Given the description of an element on the screen output the (x, y) to click on. 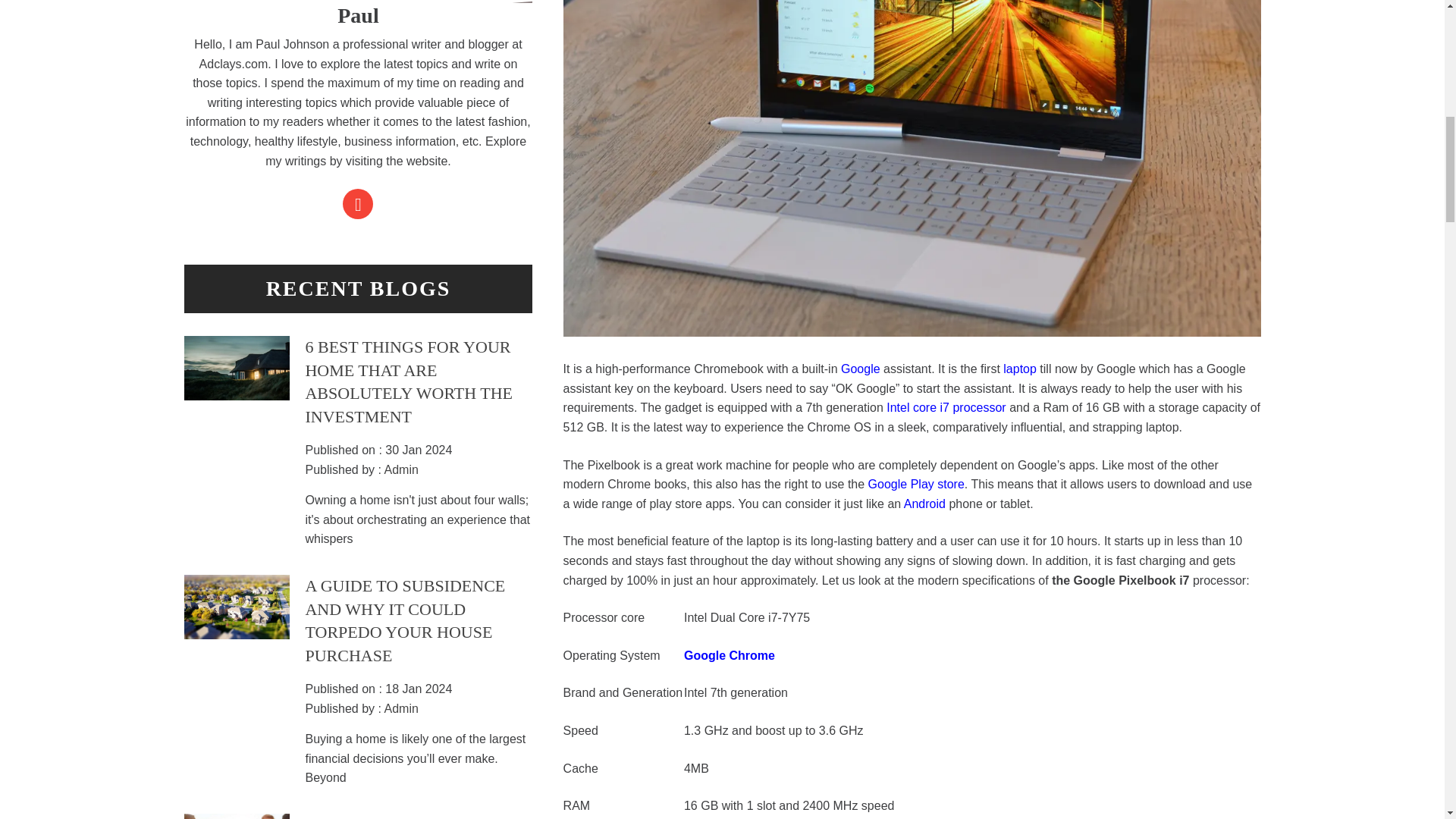
Google (860, 368)
Google Chrome (729, 655)
Intel core i7 processor (944, 407)
Android (924, 503)
Google Play store (915, 483)
laptop (1019, 368)
